Given the description of an element on the screen output the (x, y) to click on. 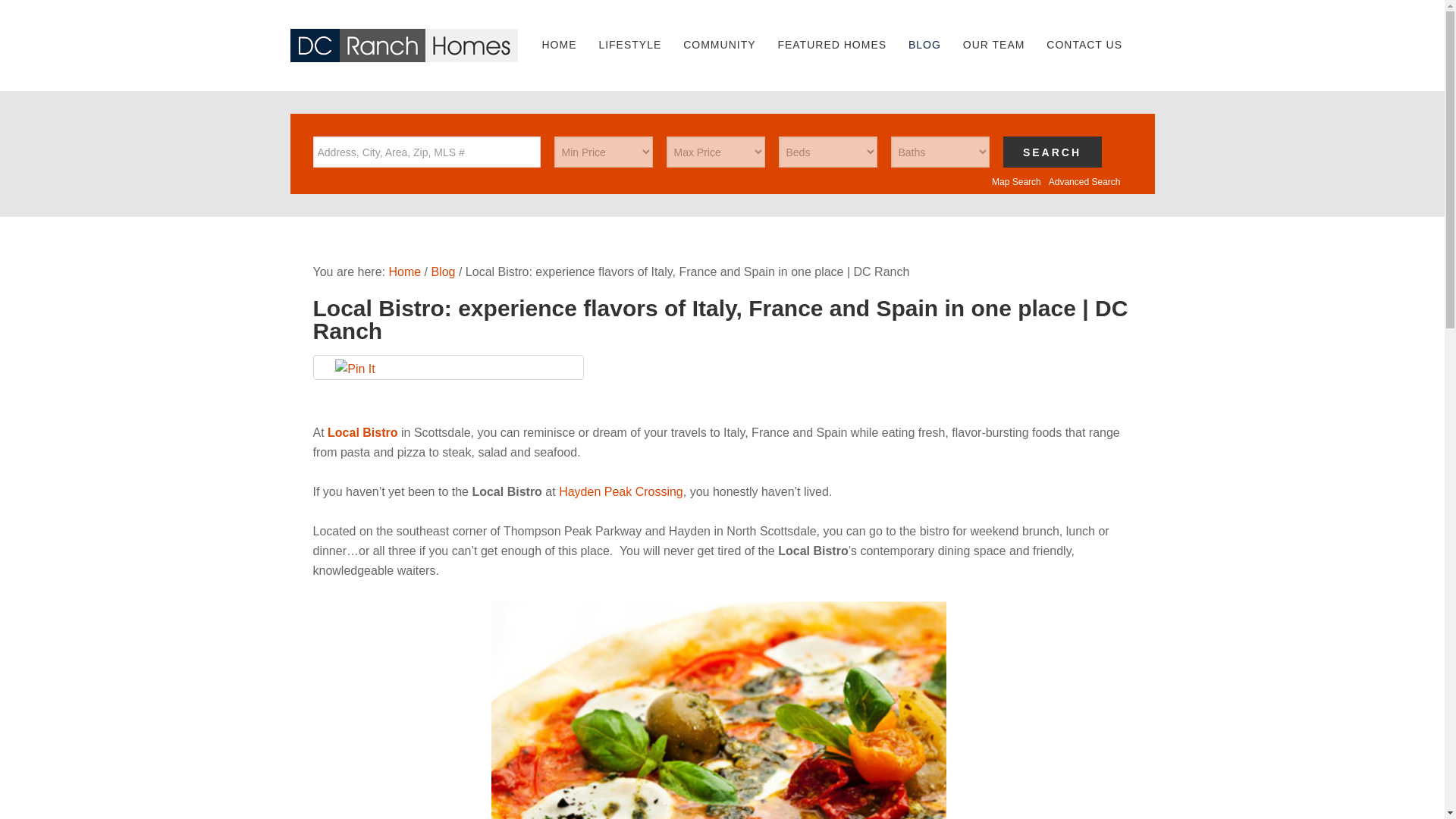
Blog (442, 271)
Advanced Search (1084, 181)
SEARCH (1051, 151)
Pin It (354, 369)
BLOG (924, 44)
Hayden Peak Crossing (620, 491)
DC RANCH HOMES (402, 45)
LIFESTYLE (629, 44)
CONTACT US (1083, 44)
Home (404, 271)
